Given the description of an element on the screen output the (x, y) to click on. 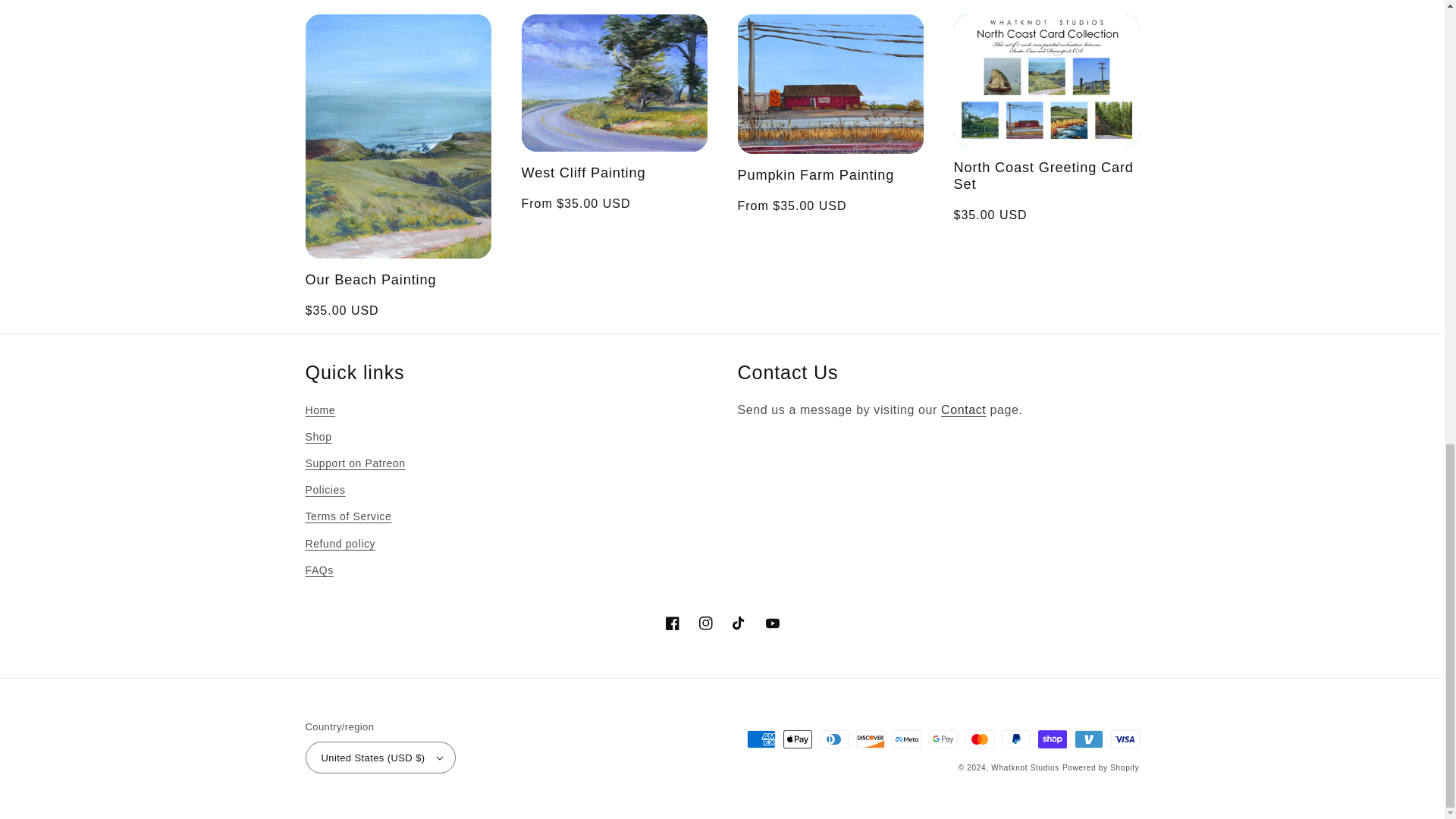
Contact (962, 409)
